Given the description of an element on the screen output the (x, y) to click on. 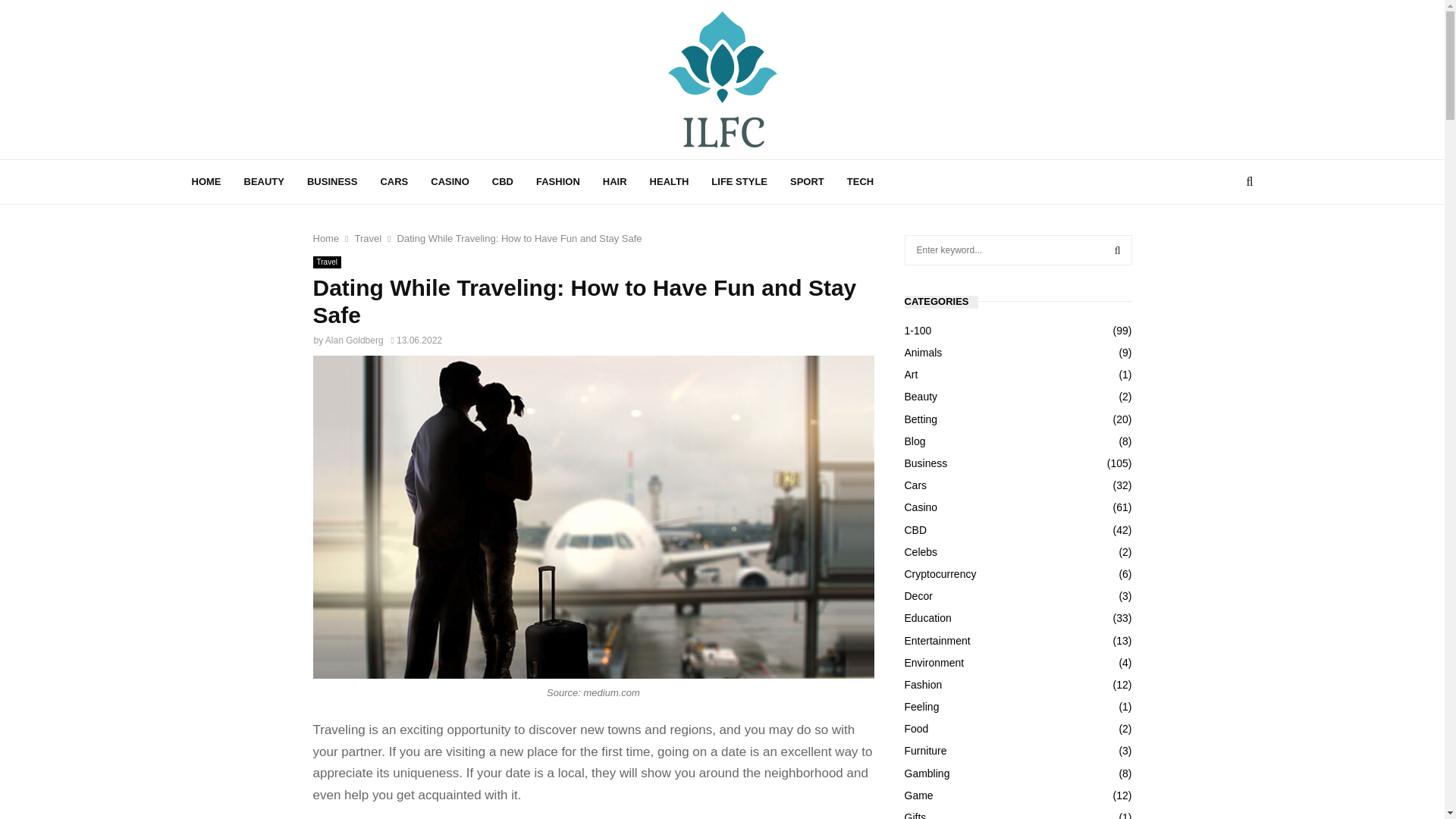
CARS (393, 181)
SPORT (807, 181)
FASHION (557, 181)
Dating While Traveling: How to Have Fun and Stay Safe (519, 238)
Travel (368, 238)
Travel (326, 262)
Alan Goldberg (354, 339)
Home (326, 238)
BEAUTY (263, 181)
HOME (205, 181)
HEALTH (668, 181)
LIFE STYLE (739, 181)
HAIR (614, 181)
TECH (860, 181)
BUSINESS (331, 181)
